Given the description of an element on the screen output the (x, y) to click on. 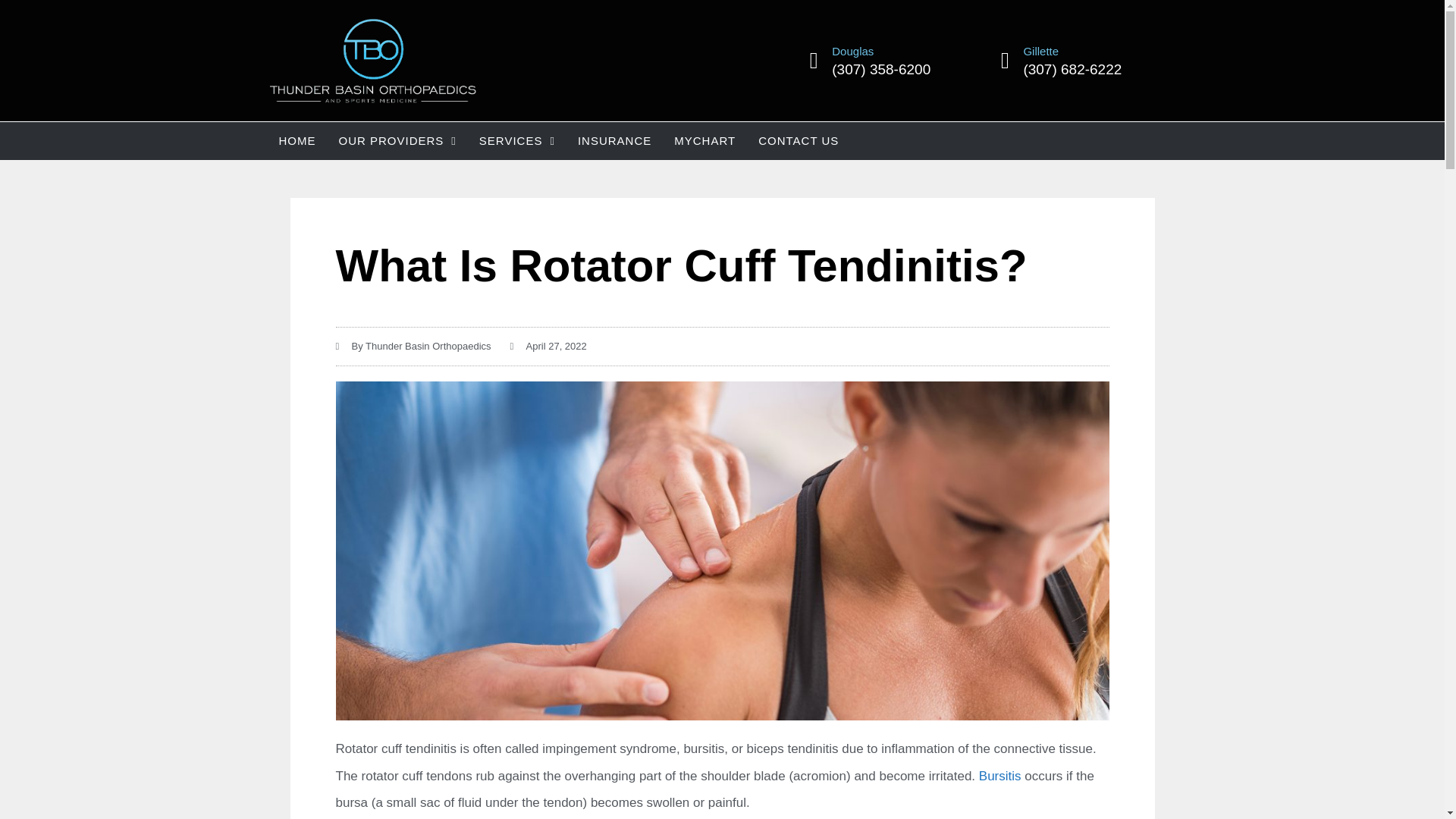
Gillette (1040, 51)
OUR PROVIDERS (397, 140)
INSURANCE (614, 140)
Douglas (852, 51)
MYCHART (704, 140)
CONTACT US (798, 140)
SERVICES (516, 140)
HOME (296, 140)
